Given the description of an element on the screen output the (x, y) to click on. 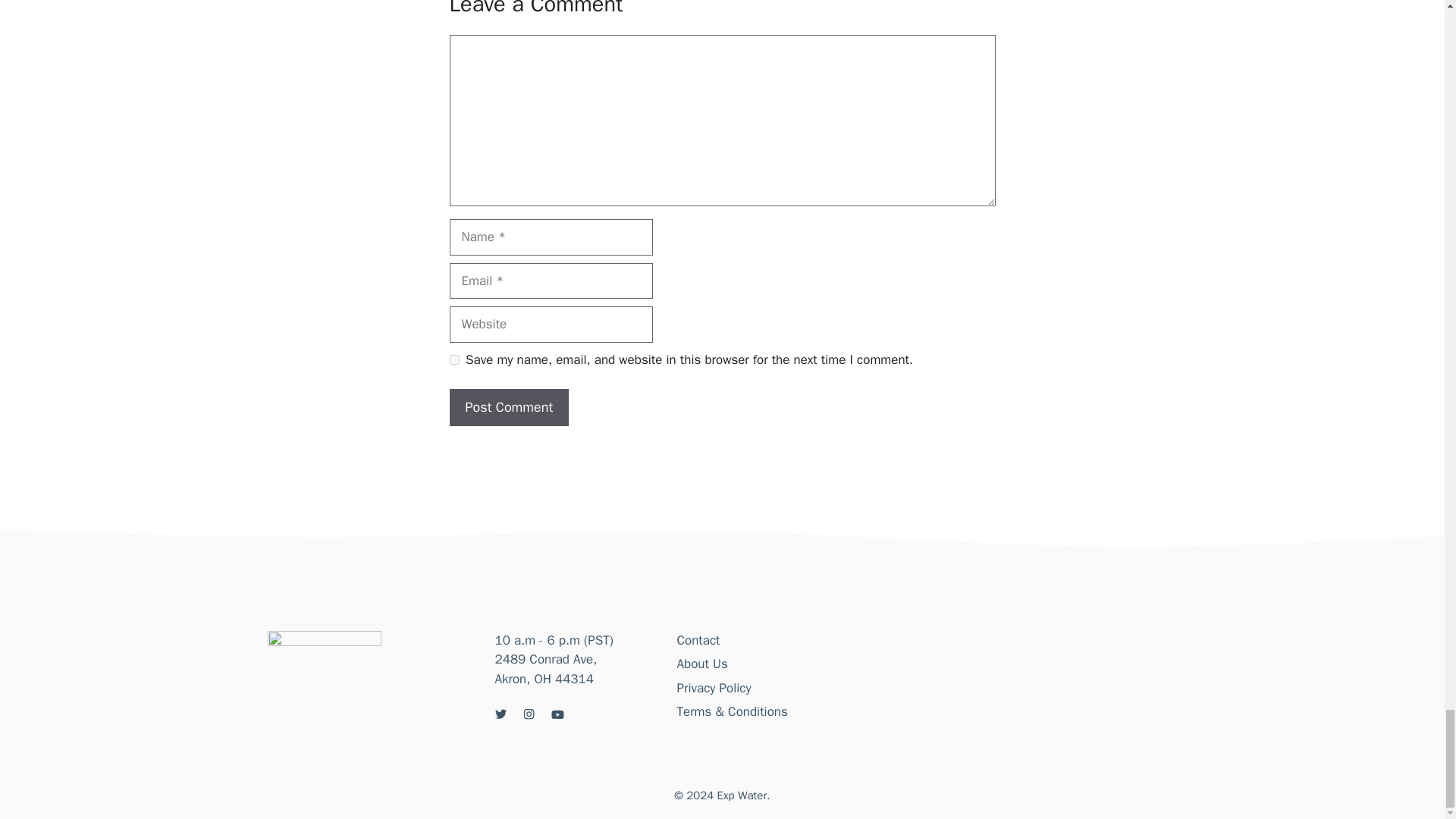
Post Comment (508, 407)
Privacy Policy (714, 688)
yes (453, 359)
About Us (701, 663)
Post Comment (508, 407)
Contact (698, 640)
